Given the description of an element on the screen output the (x, y) to click on. 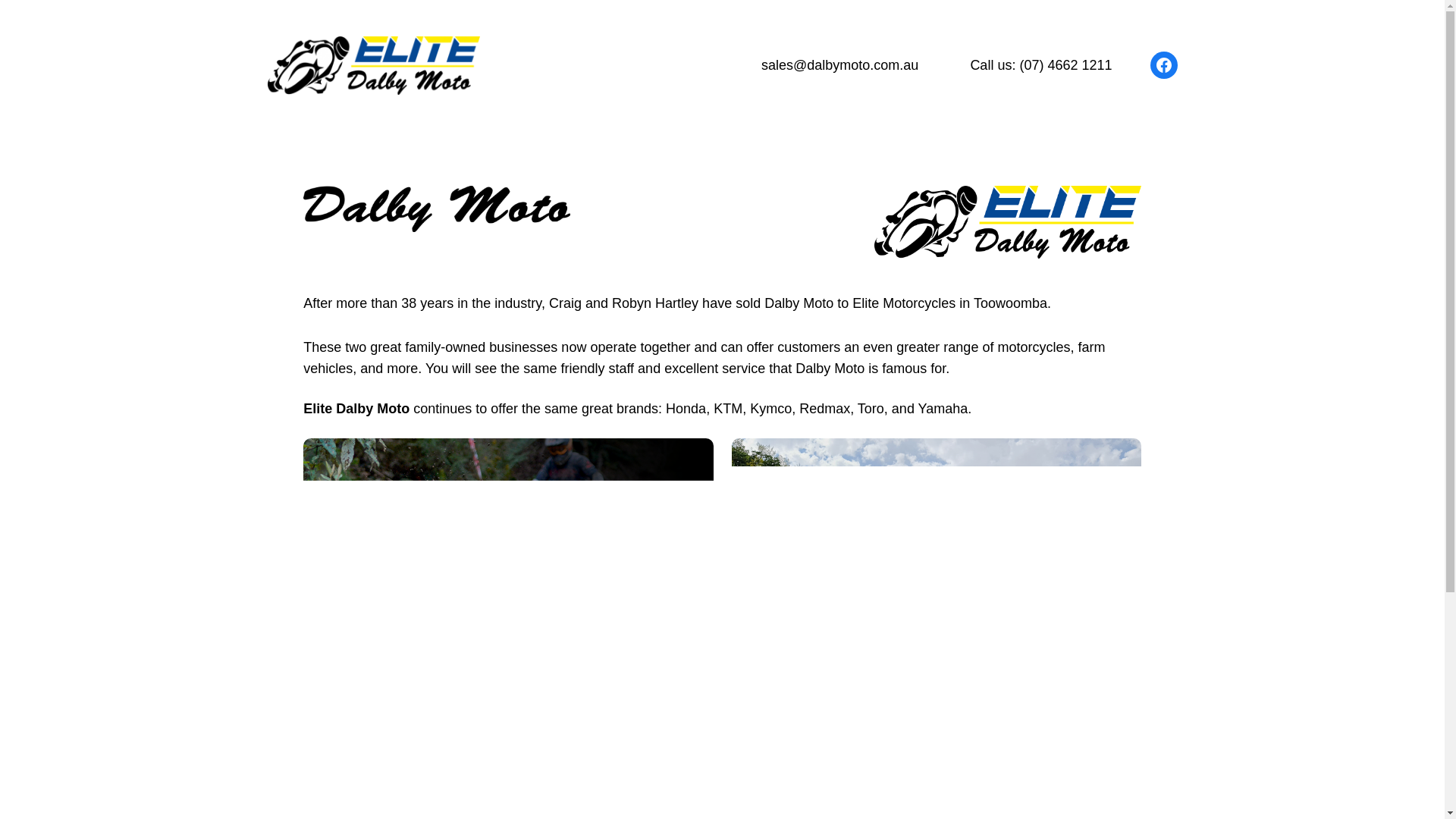
Facebook Element type: text (1162, 64)
sales@dalbymoto.com.au Element type: text (839, 65)
Call us: (07) 4662 1211 Element type: text (1040, 65)
